Given the description of an element on the screen output the (x, y) to click on. 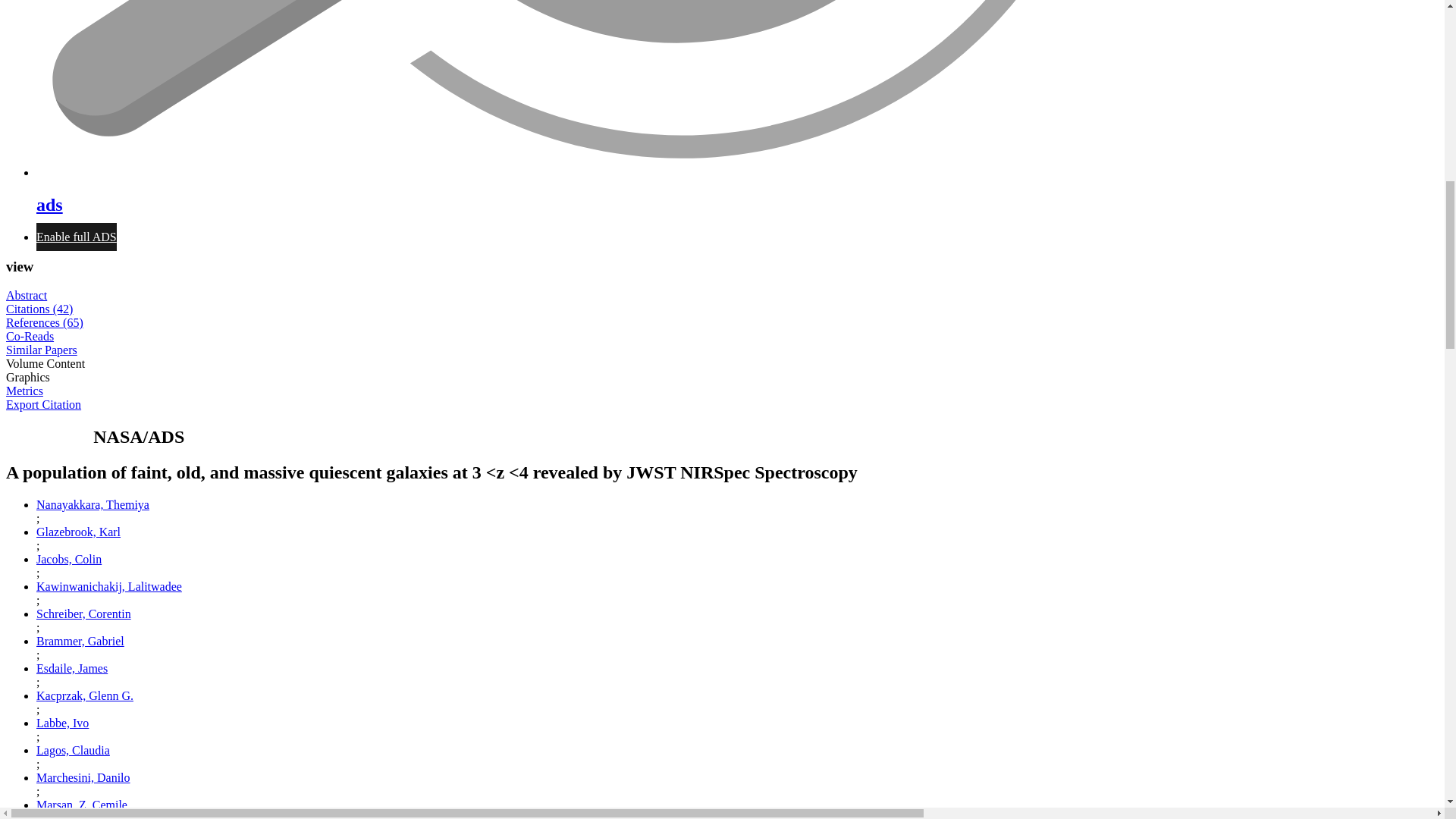
Brammer, Gabriel (79, 640)
Schreiber, Corentin (83, 613)
Marsan, Z. Cemile (82, 804)
Marchesini, Danilo (83, 777)
Esdaile, James (71, 667)
Jacobs, Colin (68, 558)
Kacprzak, Glenn G. (84, 695)
Labbe, Ivo (62, 722)
Kawinwanichakij, Lalitwadee (109, 585)
ads (737, 190)
Nanayakkara, Themiya (92, 504)
Lagos, Claudia (73, 749)
